Given the description of an element on the screen output the (x, y) to click on. 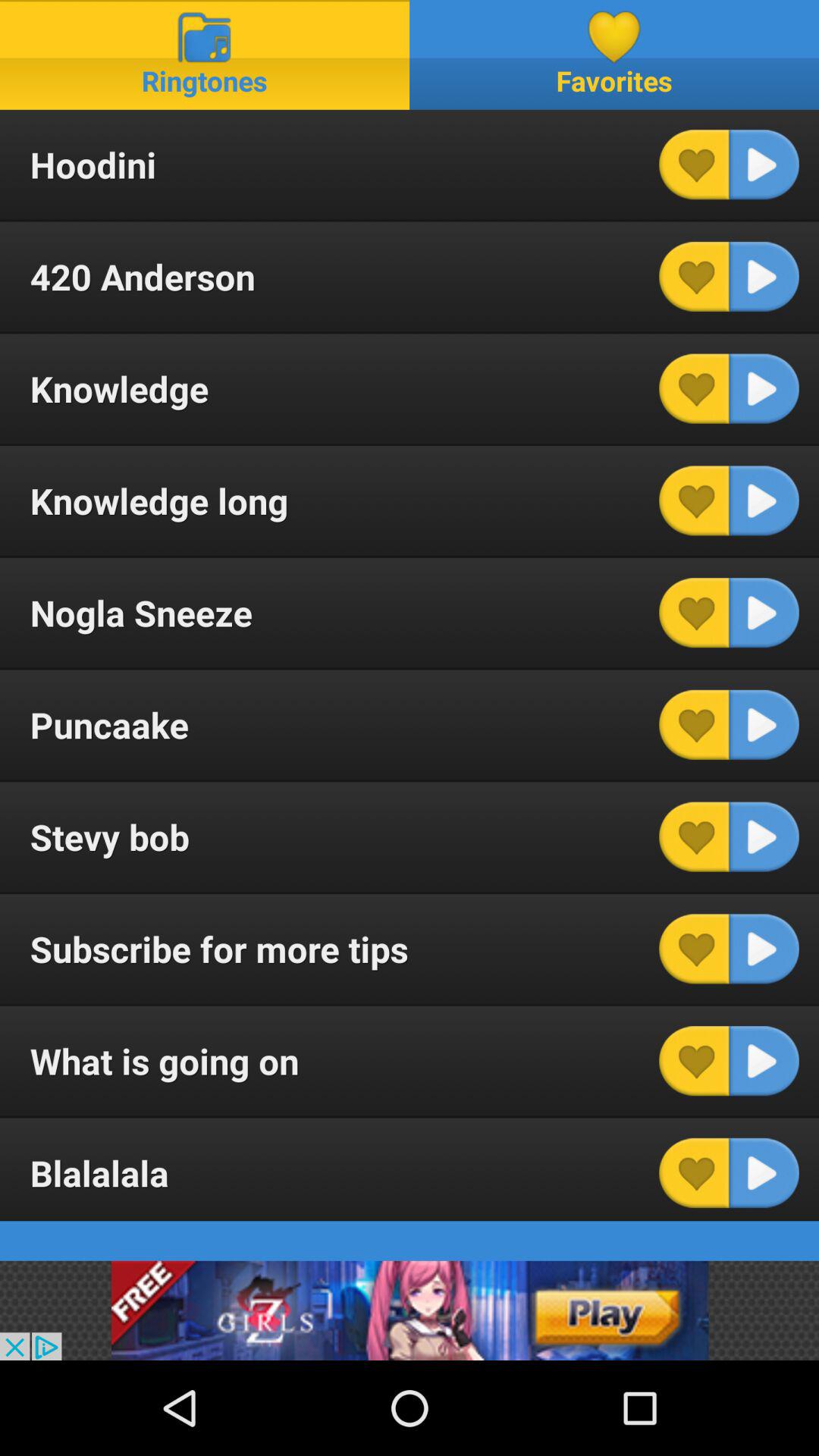
heart this (694, 388)
